Given the description of an element on the screen output the (x, y) to click on. 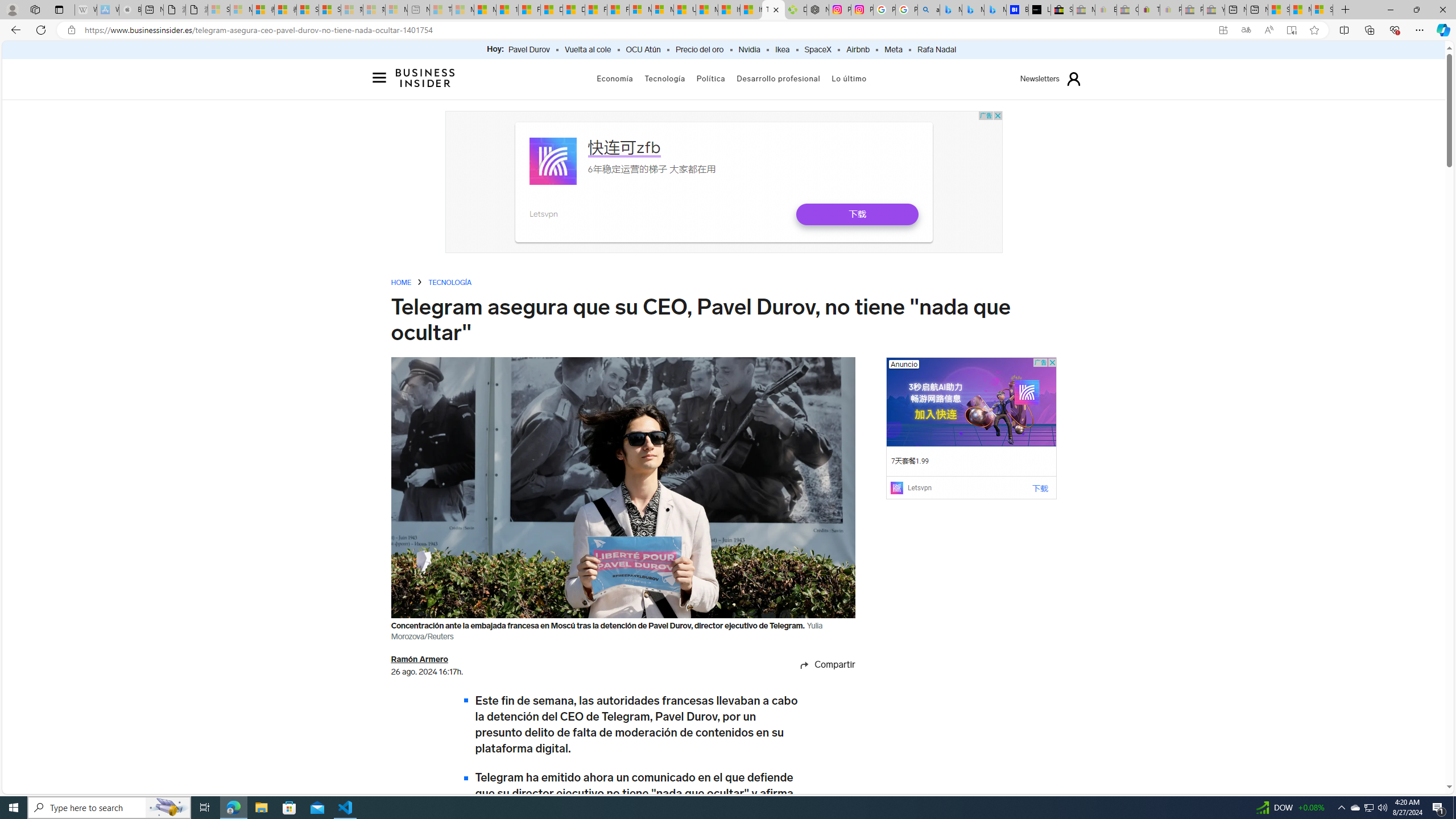
Airbnb (857, 49)
Share icon (804, 664)
Rafa Nadal (936, 49)
alabama high school quarterback dies - Search (928, 9)
Precio del oro (699, 49)
Marine life - MSN - Sleeping (462, 9)
Airbnb (857, 49)
Nvidia (748, 49)
